Given the description of an element on the screen output the (x, y) to click on. 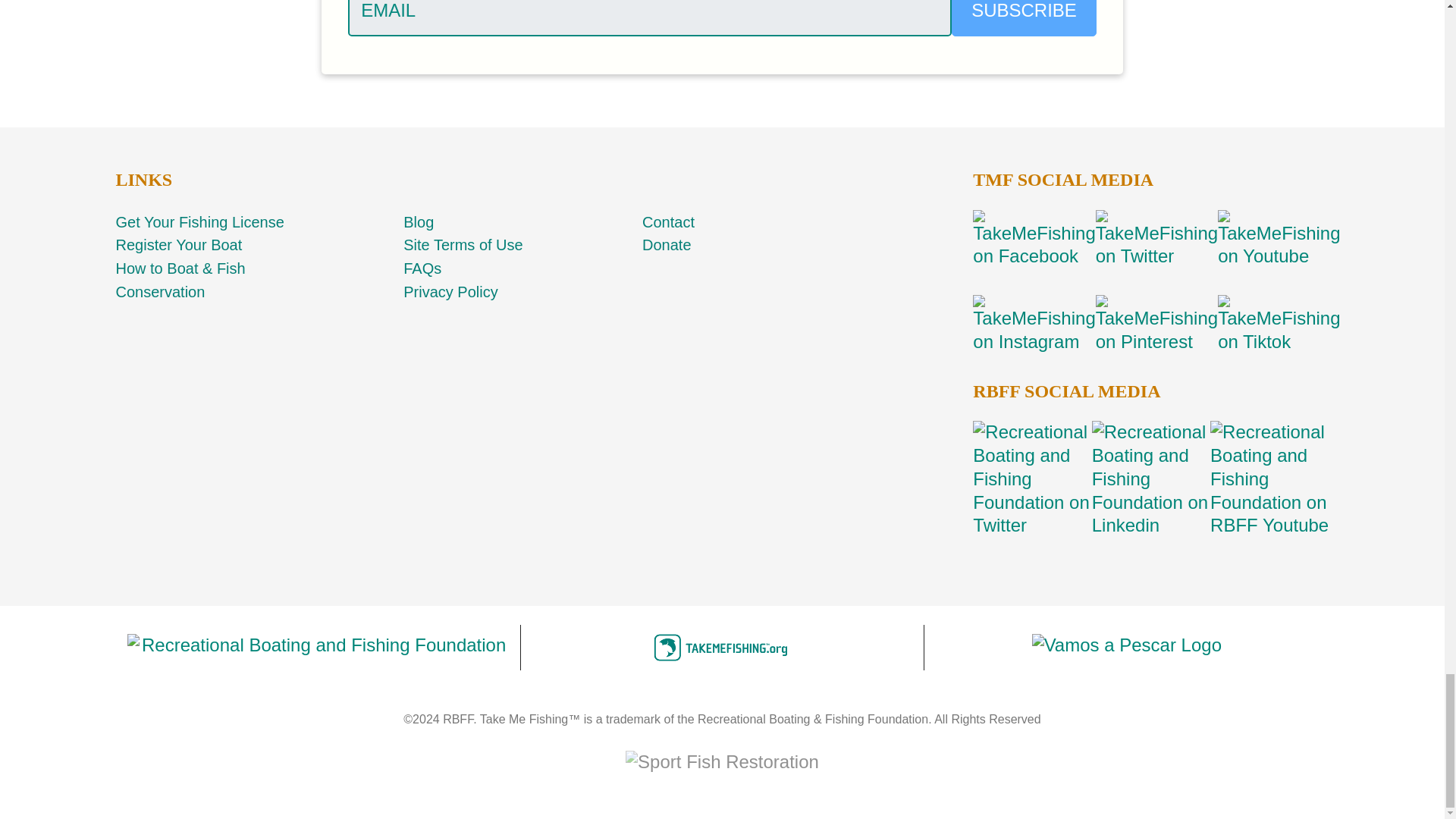
Subscribe (1024, 18)
